Given the description of an element on the screen output the (x, y) to click on. 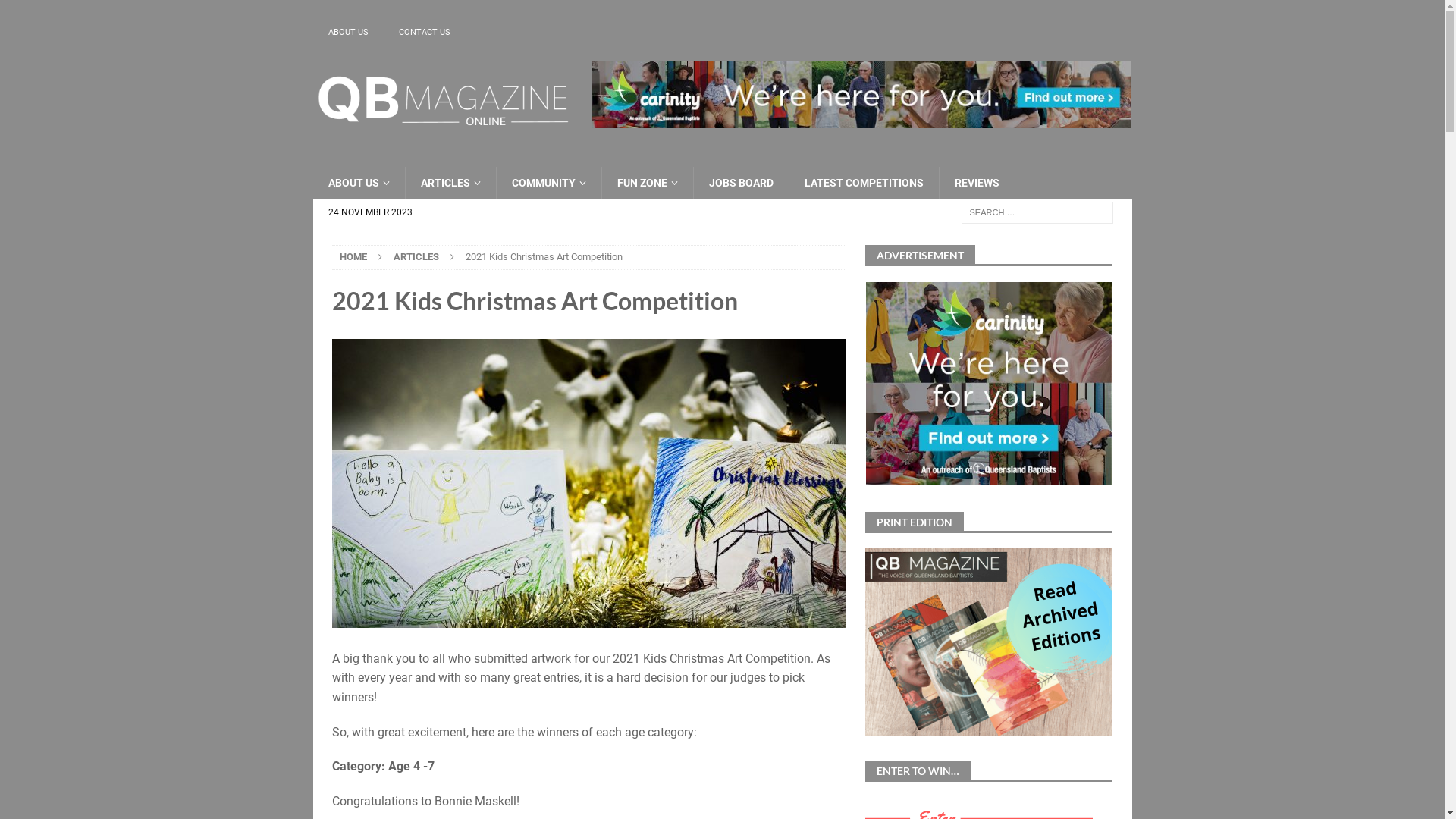
LATEST COMPETITIONS Element type: text (863, 182)
CONTACT US Element type: text (424, 31)
Search Element type: text (56, 11)
ABOUT US Element type: text (347, 31)
IMG_2434-2 Element type: hover (589, 482)
REVIEWS Element type: text (976, 182)
JOBS BOARD Element type: text (740, 182)
ARTICLES Element type: text (415, 256)
ARTICLES Element type: text (449, 182)
Search Element type: text (390, 11)
COMMUNITY Element type: text (548, 182)
FUN ZONE Element type: text (646, 182)
ABOUT US Element type: text (358, 182)
HOME Element type: text (353, 256)
